Given the description of an element on the screen output the (x, y) to click on. 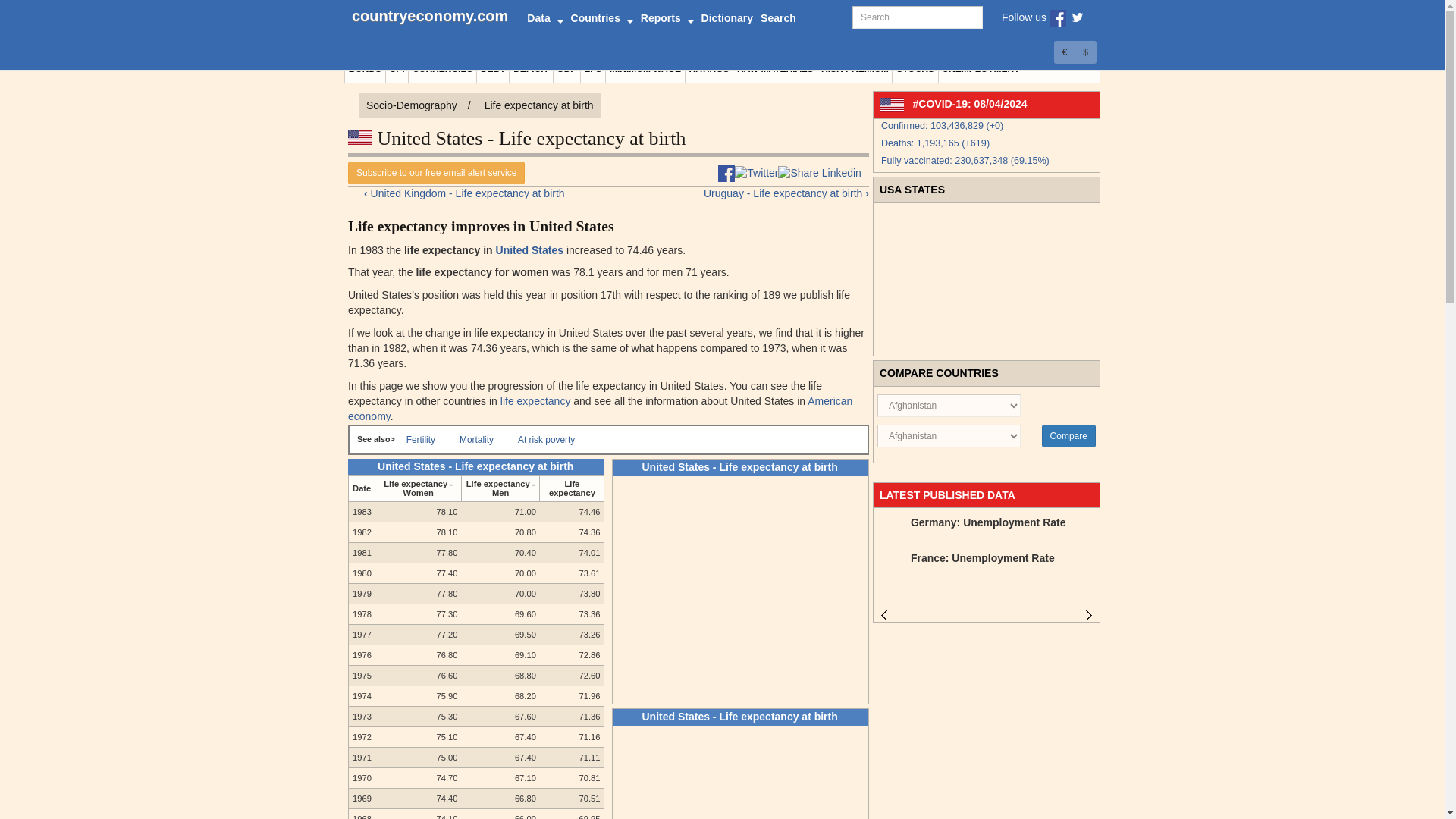
CURRENCIES (442, 68)
Uruguay - Life expectancy at birth (762, 193)
Global Stock Market Indexes (914, 68)
Share Facebook (726, 173)
At risk poverty (546, 437)
NMW - National Minimum Wage (644, 68)
DEFICIT (530, 68)
Dictionary (727, 18)
DEBT (492, 68)
Labour Force Survey - LFS (592, 68)
